Given the description of an element on the screen output the (x, y) to click on. 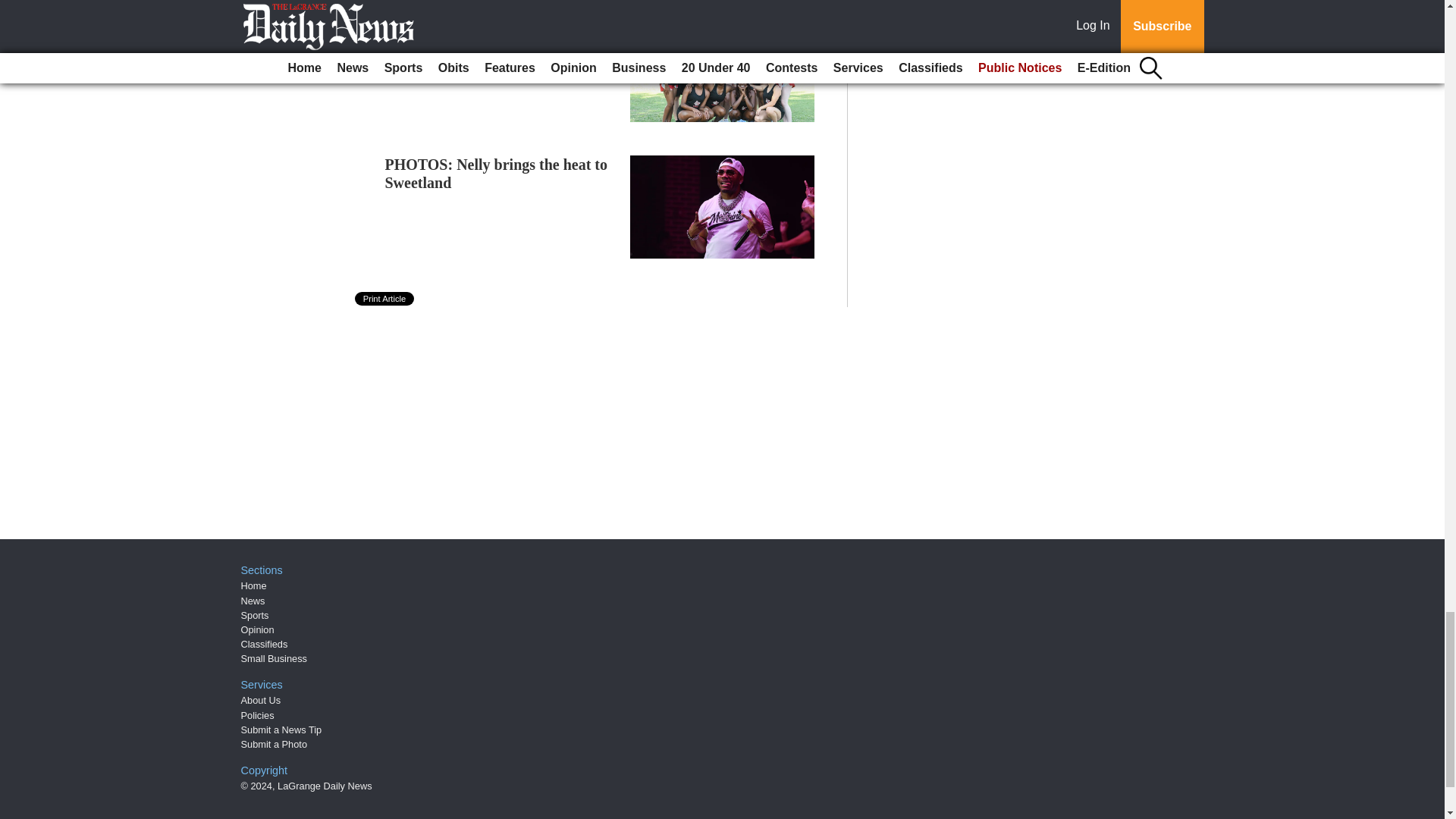
Print Article (384, 298)
PHOTOS: Nelly brings the heat to Sweetland (496, 173)
PHOTOS: Nelly brings the heat to Sweetland (496, 173)
Home (253, 585)
